Given the description of an element on the screen output the (x, y) to click on. 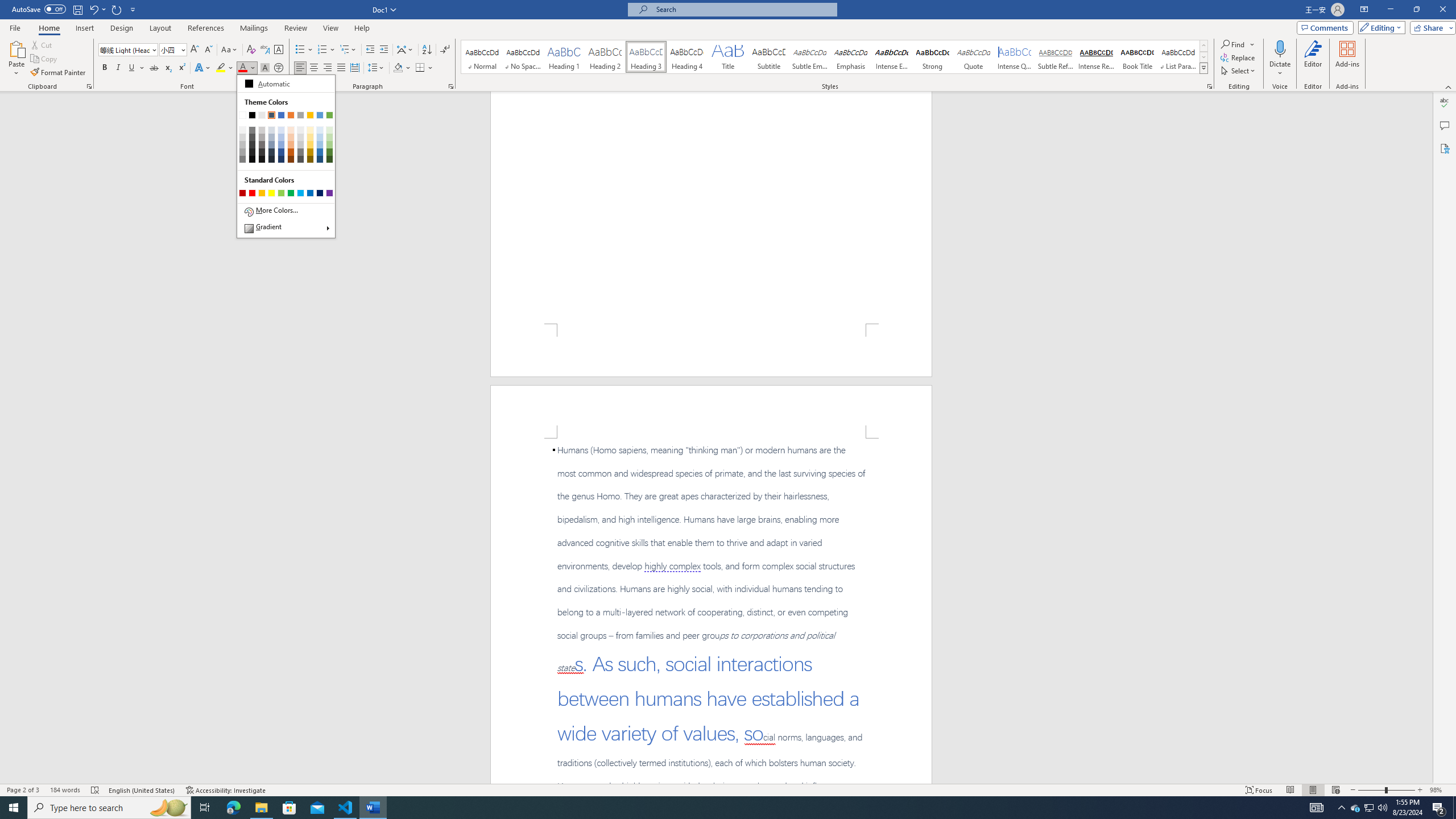
Replace... (1237, 56)
Multilevel List (347, 49)
Page Number Page 2 of 3 (22, 790)
Decrease Indent (370, 49)
Center (313, 67)
Font Color Blue-Gray, Text 2 (241, 67)
Underline (131, 67)
Visual Studio Code - 1 running window (345, 807)
Quick Access Toolbar (74, 9)
Dictate (1280, 48)
Font Size (172, 49)
Editor (1444, 102)
Character Shading (264, 67)
Share (1430, 27)
